Given the description of an element on the screen output the (x, y) to click on. 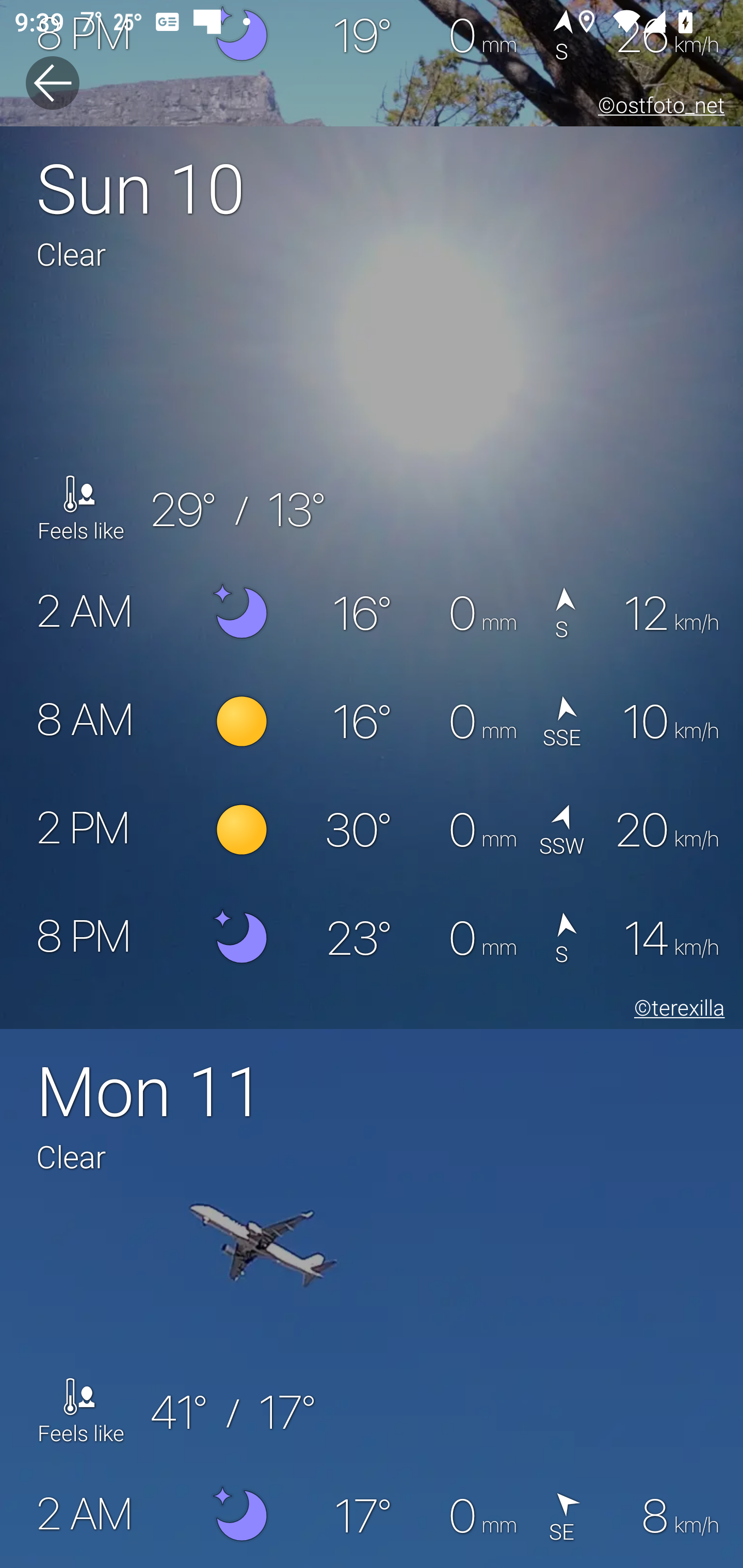
©ostfoto_net (657, 108)
2 AM 16° 0 mm  S 12 km/h (371, 613)
8 AM 16° 0 mm  SSE 10 km/h (371, 721)
2 PM 30° 0 mm  SSW 20 km/h (371, 830)
8 PM 23° 0 mm  S 14 km/h (371, 938)
©terexilla (676, 1010)
2 AM 17° 0 mm  SE 8 km/h (371, 1514)
